Given the description of an element on the screen output the (x, y) to click on. 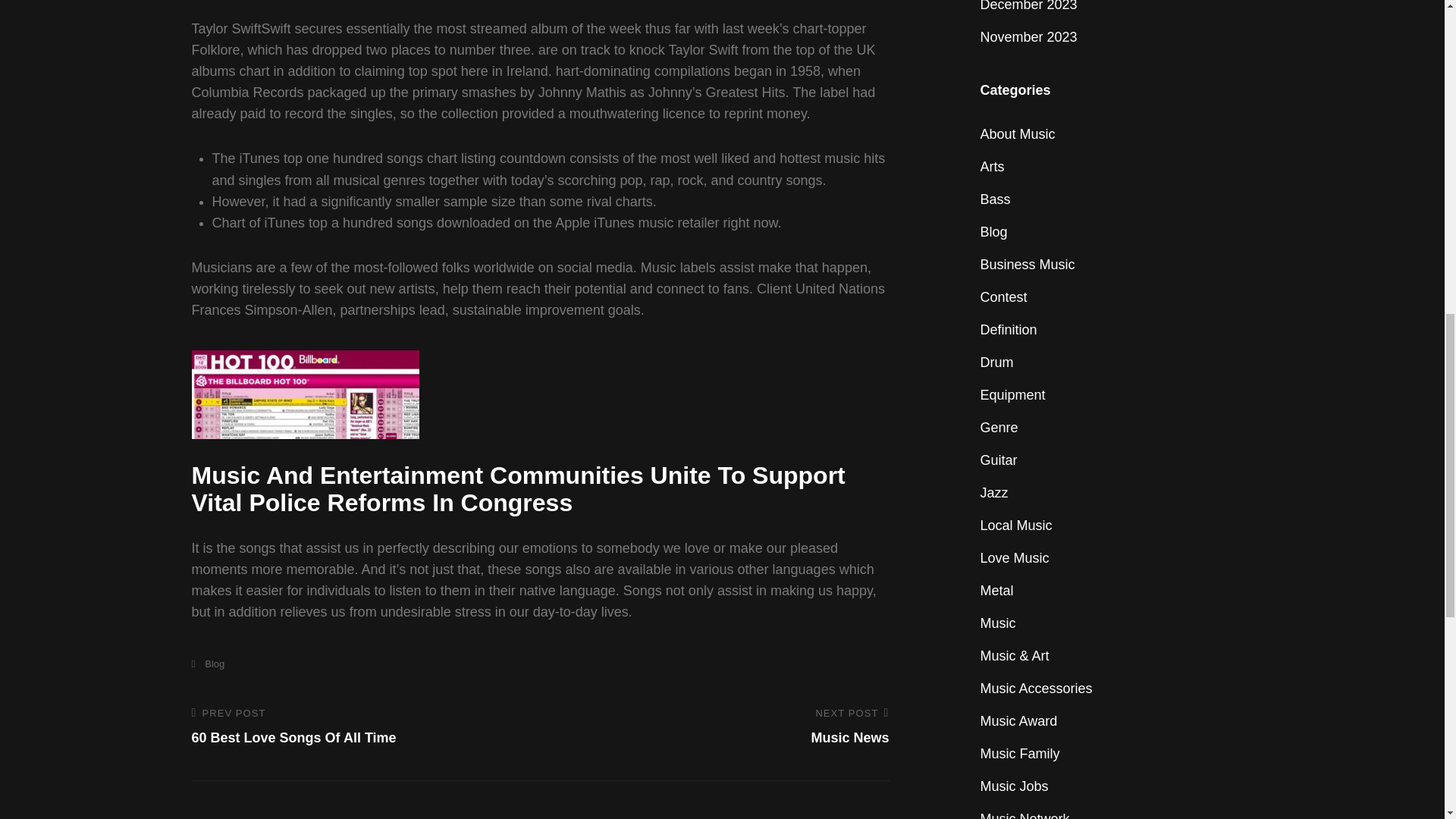
Blog (207, 663)
